Given the description of an element on the screen output the (x, y) to click on. 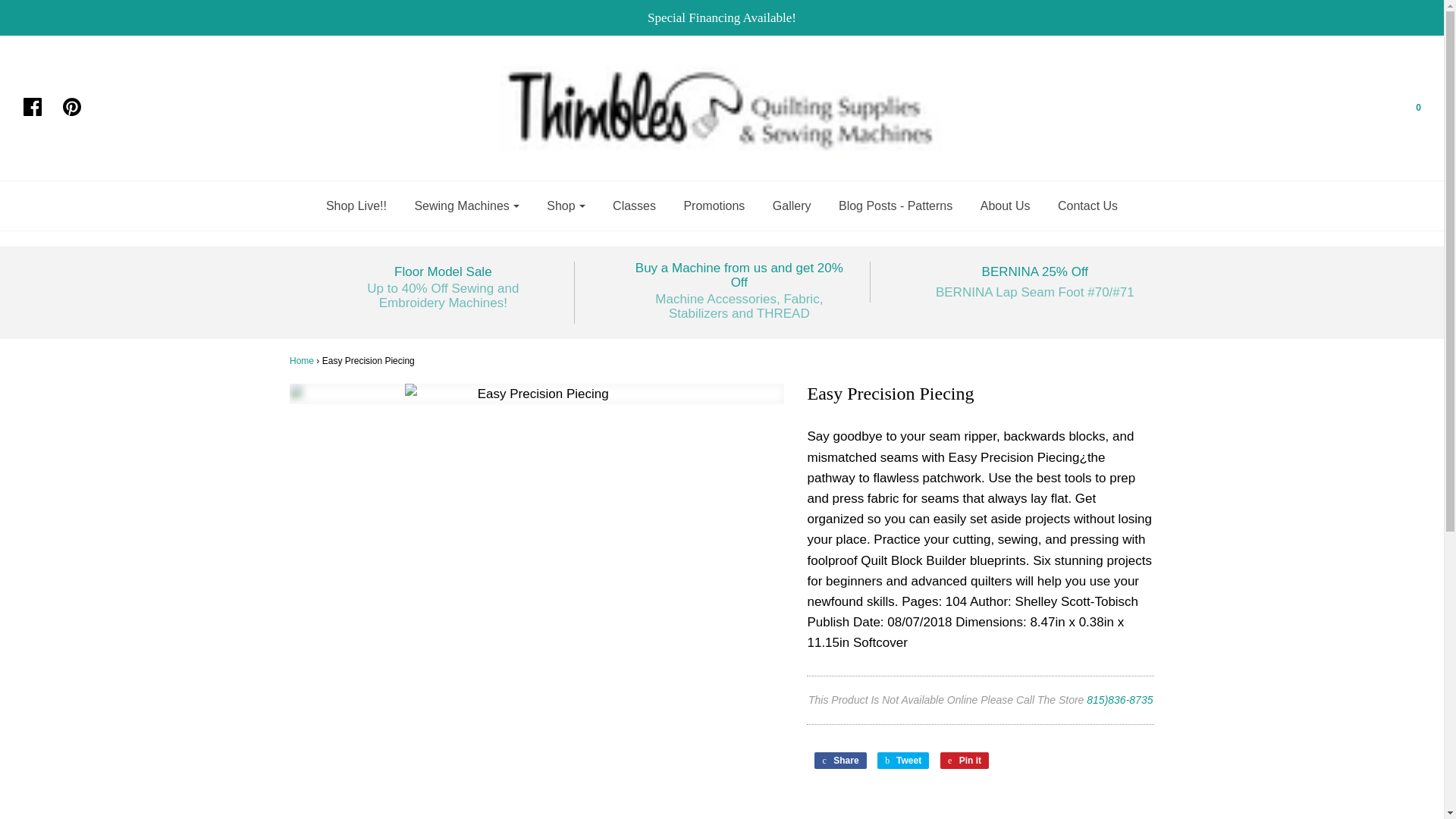
Pinterest icon (79, 107)
Back to the frontpage (301, 360)
Cart (1408, 107)
Special Financing Available! (722, 17)
Facebook icon (39, 107)
Pinterest icon (71, 106)
Facebook icon (32, 106)
Sewing Machines (466, 205)
Shop Live!! (355, 205)
0 (1408, 107)
